Given the description of an element on the screen output the (x, y) to click on. 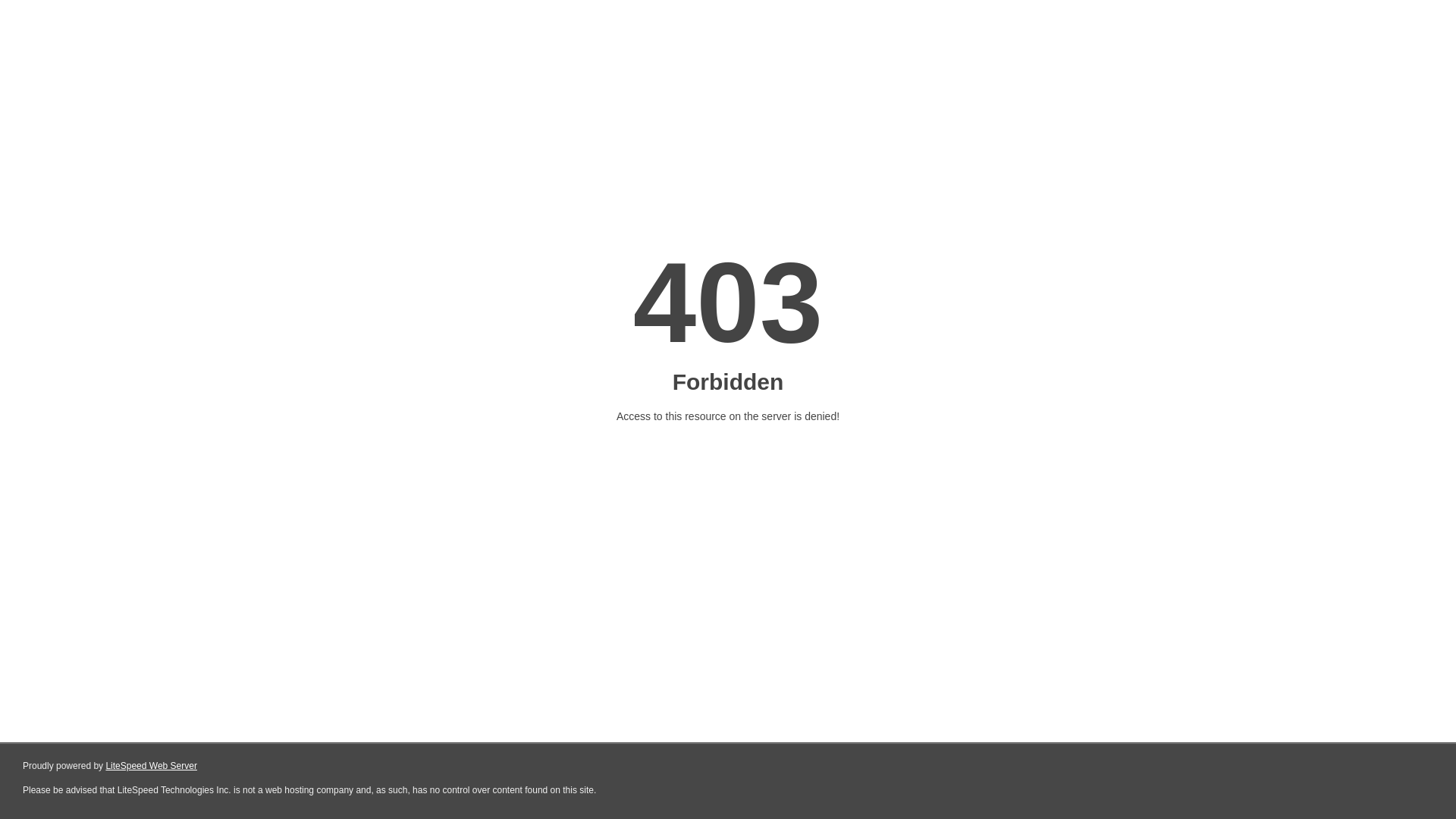
LiteSpeed Web Server Element type: text (151, 765)
